Given the description of an element on the screen output the (x, y) to click on. 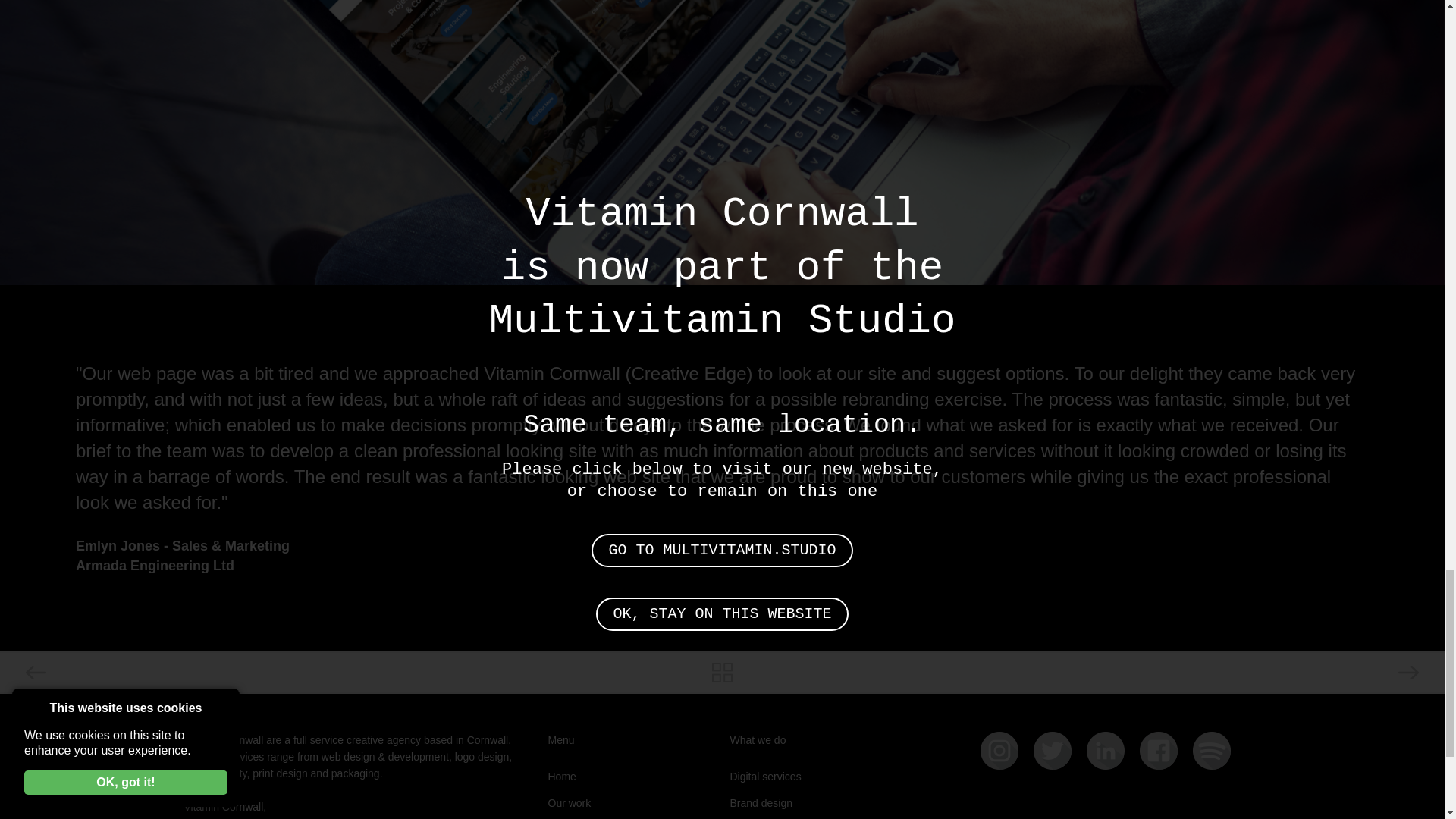
back to projects (721, 672)
Brand design (760, 802)
Digital services (764, 776)
Home (561, 776)
next project (1199, 672)
Our work (569, 802)
previous project (243, 672)
